Given the description of an element on the screen output the (x, y) to click on. 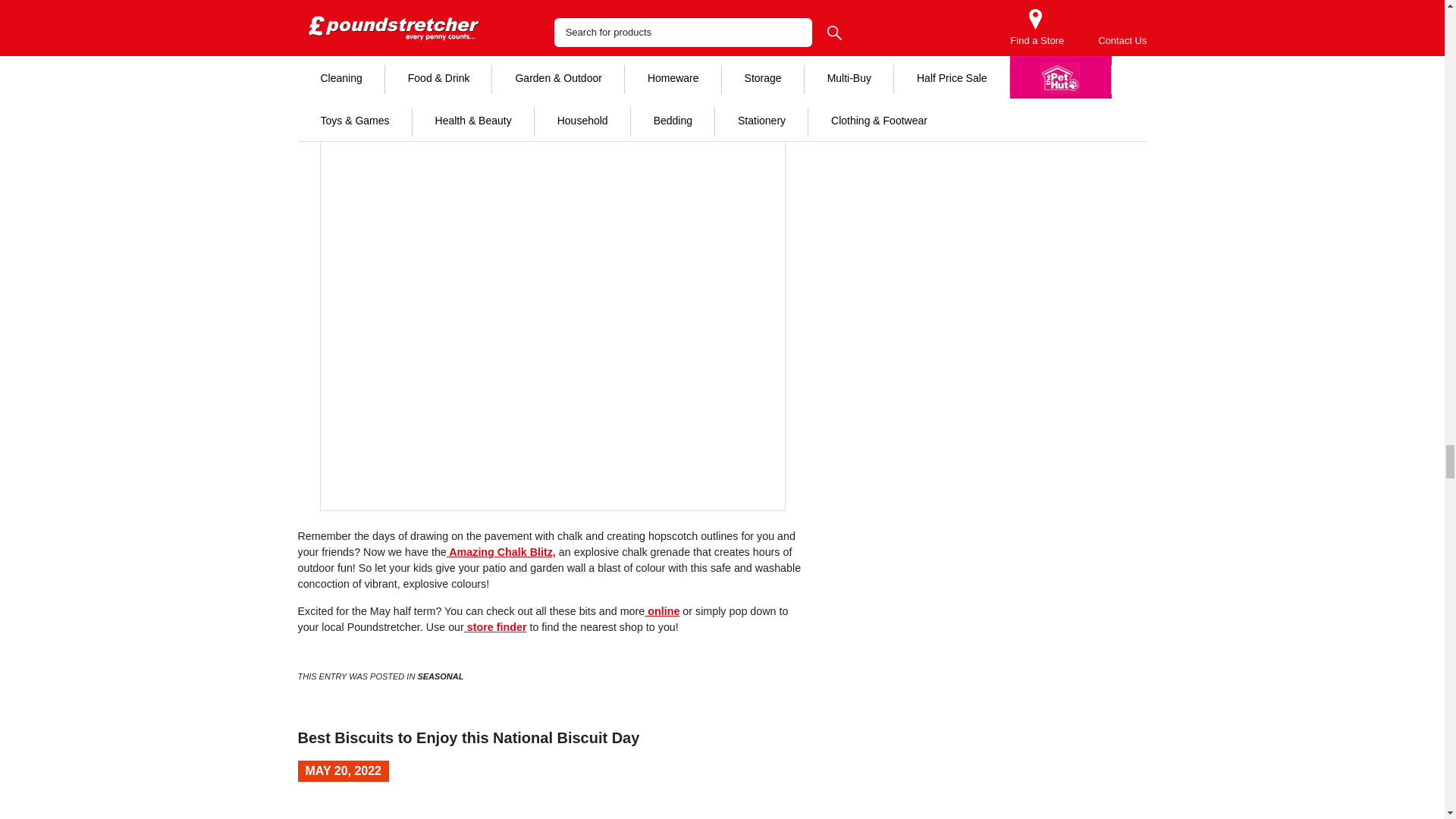
Best Biscuits to Enjoy this National Biscuit Day (468, 737)
